Given the description of an element on the screen output the (x, y) to click on. 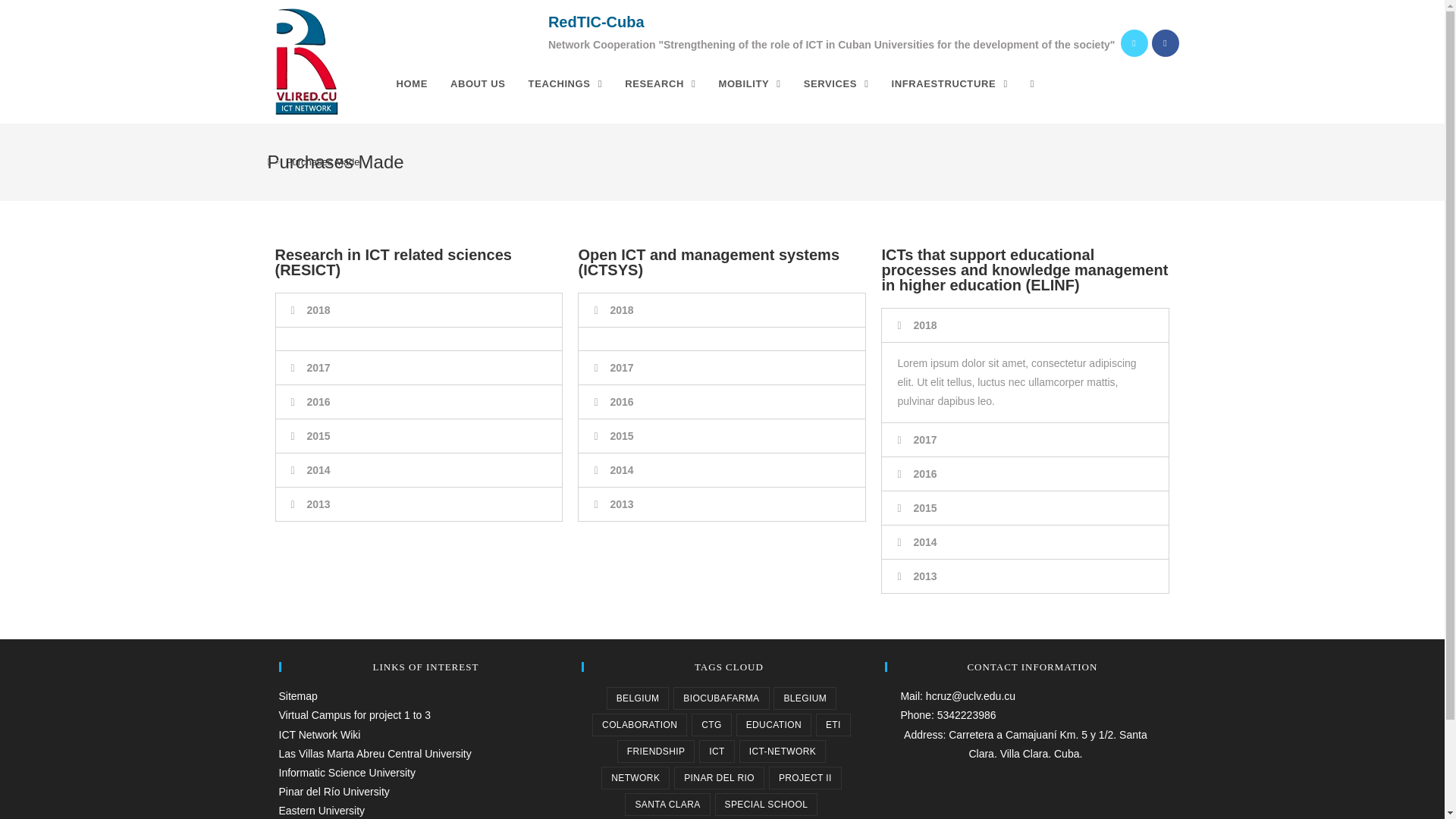
2016 (621, 401)
2018 (317, 309)
Purchases Made (322, 161)
2017 (317, 367)
TEACHINGS (565, 84)
2016 (317, 401)
RESEARCH (659, 84)
HOME (412, 84)
2018 (621, 309)
2014 (317, 469)
